Given the description of an element on the screen output the (x, y) to click on. 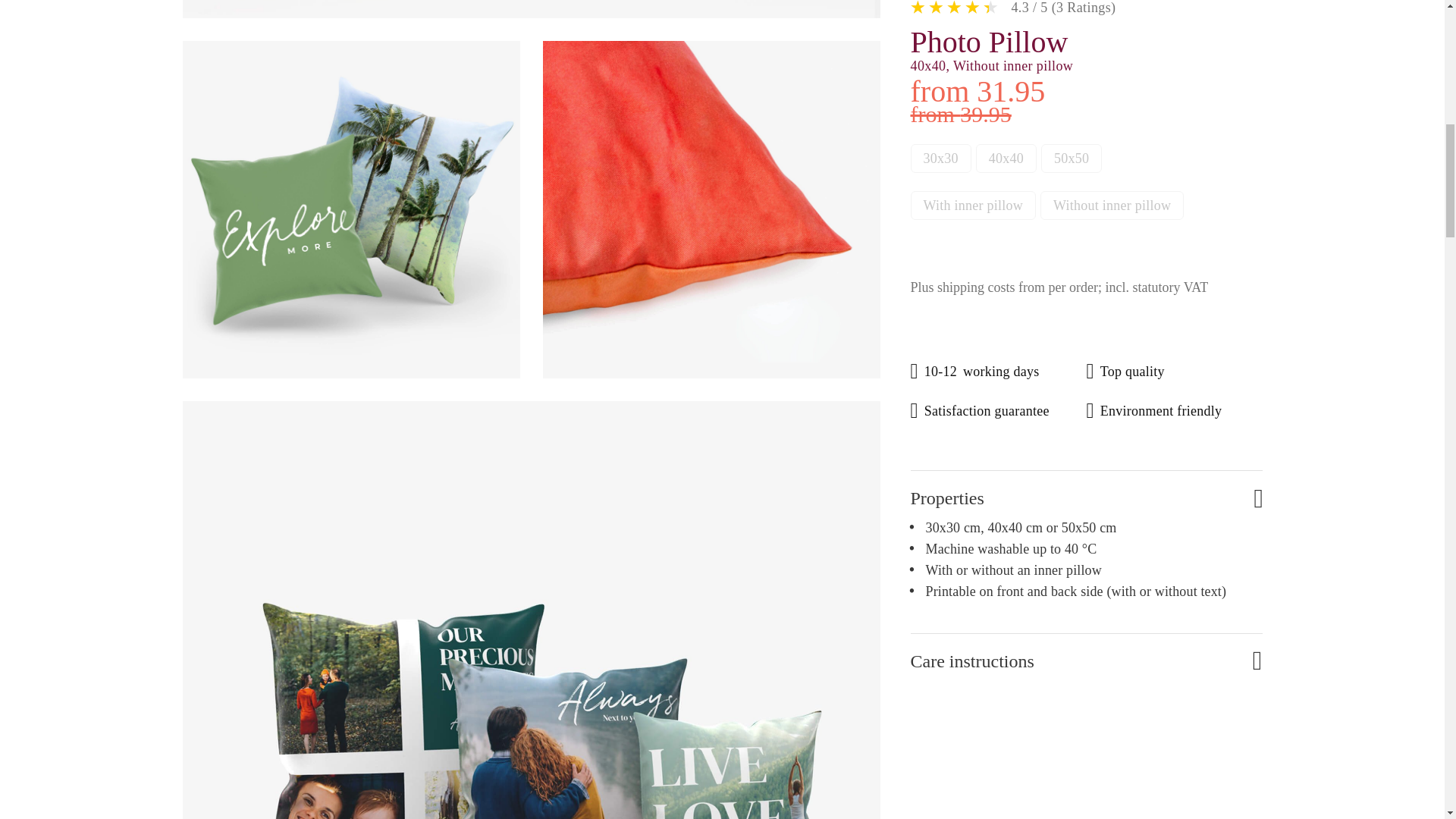
01.jpg (530, 9)
pdp-pillow-case-old-format.jpg (711, 209)
Pillow-ProductImage-2.jpg (350, 209)
